Given the description of an element on the screen output the (x, y) to click on. 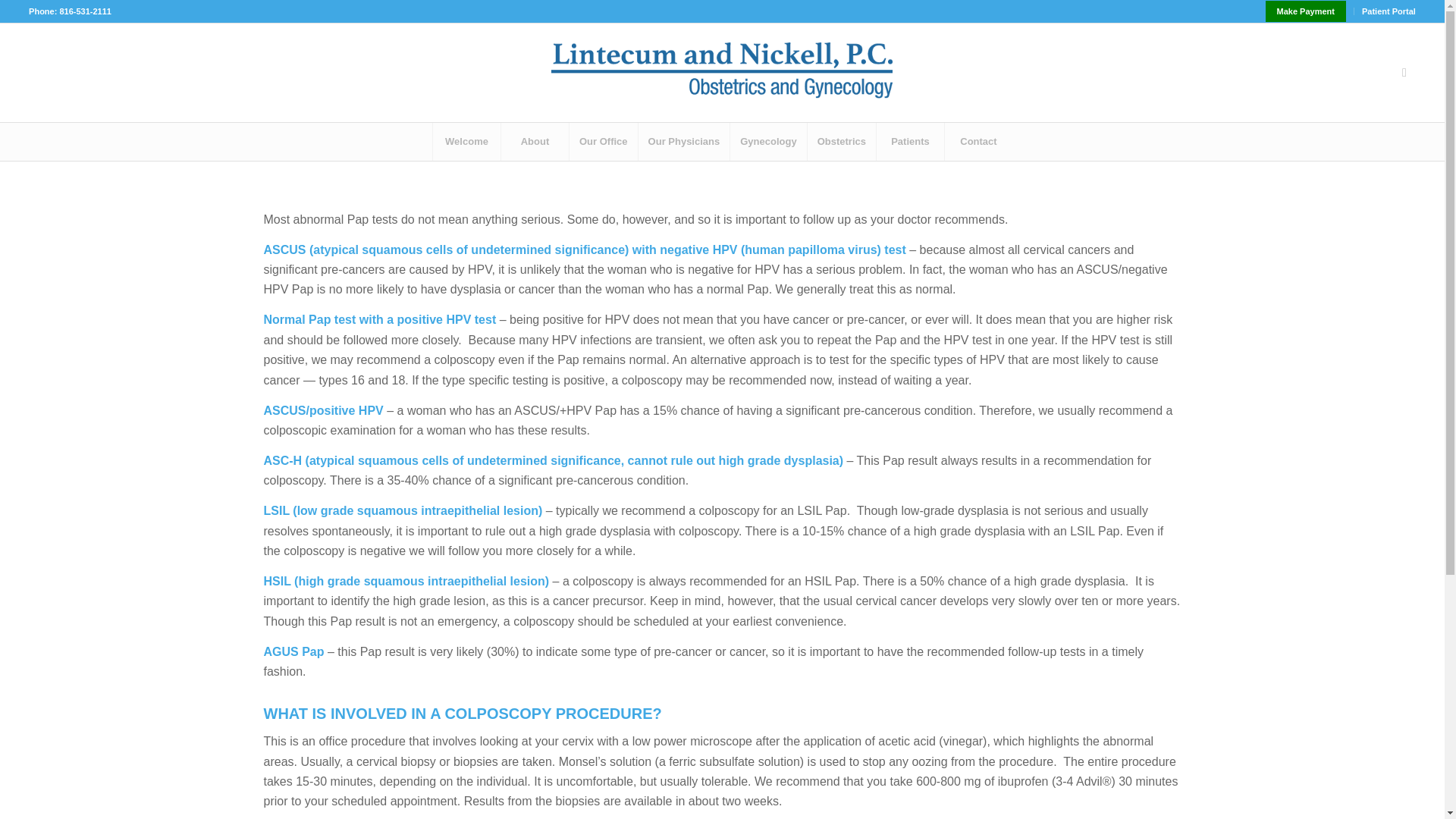
About (534, 141)
Welcome (466, 141)
Patients (909, 141)
Make Payment (1305, 11)
Obstetrics (841, 141)
Our Office (603, 141)
Contact (977, 141)
Facebook (1404, 72)
Gynecology (767, 141)
Our Physicians (683, 141)
